Given the description of an element on the screen output the (x, y) to click on. 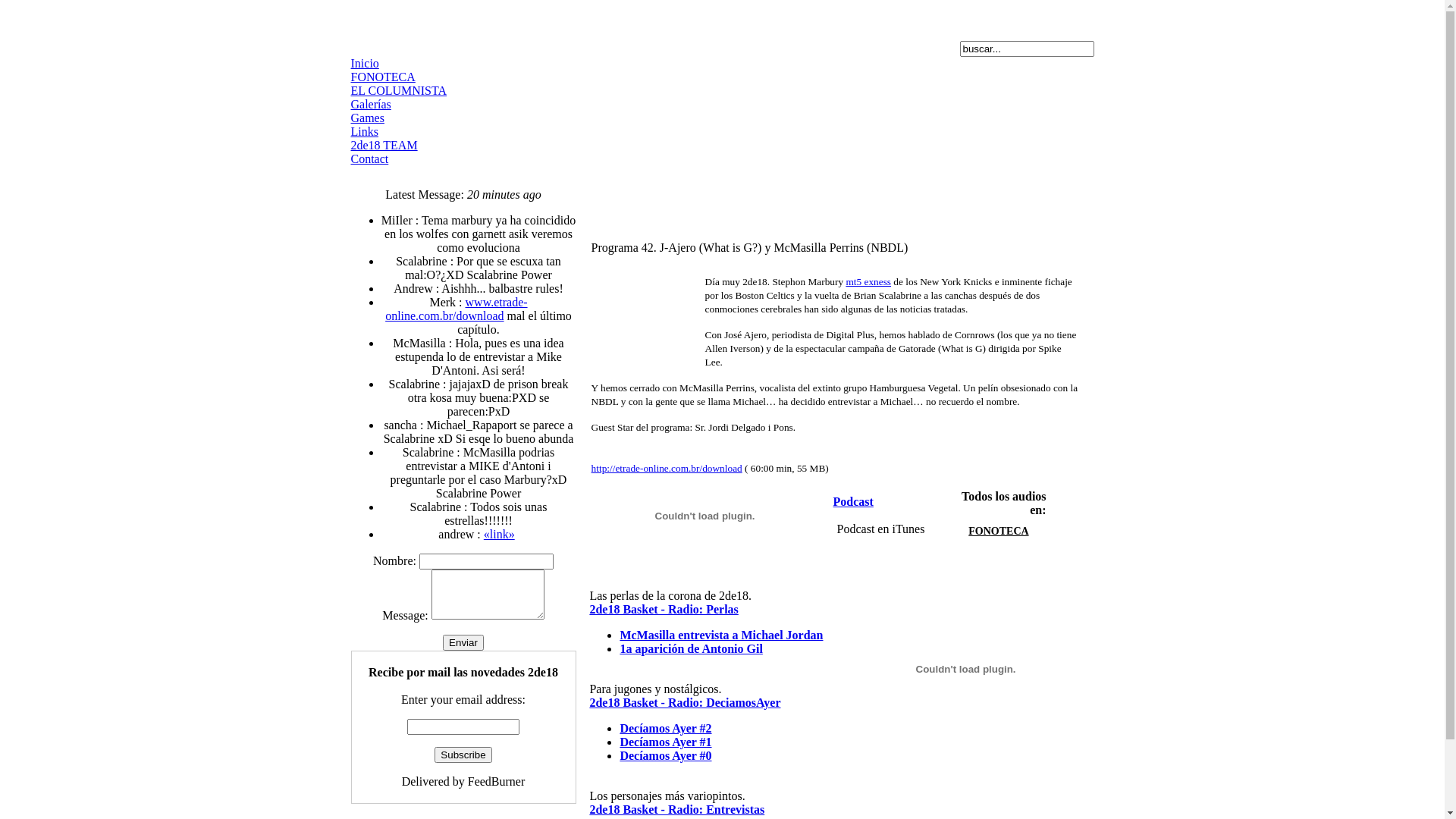
Enviar Element type: text (462, 642)
2de18 Basket - Radio: Entrevistas Element type: text (676, 809)
2de18 TEAM Element type: text (383, 144)
Contact Element type: text (369, 158)
www.etrade-online.com.br/download Element type: text (456, 308)
Link to Podcast Element type: hover (824, 501)
Podcast Element type: text (853, 501)
http://etrade-online.com.br/download Element type: text (666, 467)
Subscribe Element type: text (462, 754)
2de18 Basket - Radio: Perlas Element type: text (663, 608)
FONOTECA Element type: text (382, 76)
Links Element type: text (363, 131)
2de18 Basket - Radio: DeciamosAyer Element type: text (684, 702)
Games Element type: text (366, 117)
McMasilla entrevista a Michael Jordan Element type: text (720, 634)
mt5 exness Element type: text (868, 281)
FONOTECA Element type: text (998, 530)
Inicio Element type: text (364, 62)
EL COLUMNISTA Element type: text (398, 90)
